Given the description of an element on the screen output the (x, y) to click on. 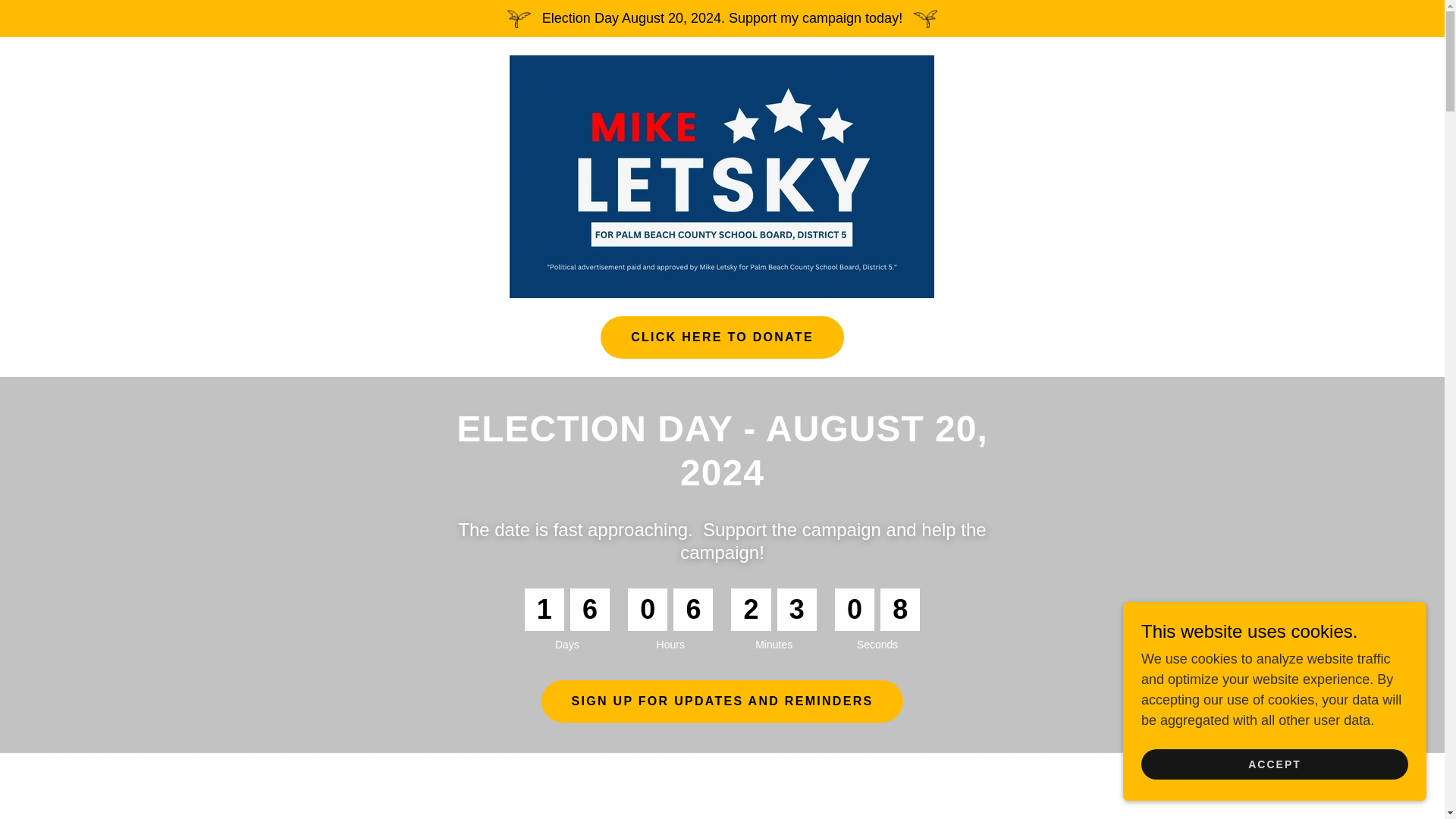
SIGN UP FOR UPDATES AND REMINDERS (722, 701)
Mike Letsky (721, 175)
ACCEPT (1274, 764)
CLICK HERE TO DONATE (721, 337)
